Given the description of an element on the screen output the (x, y) to click on. 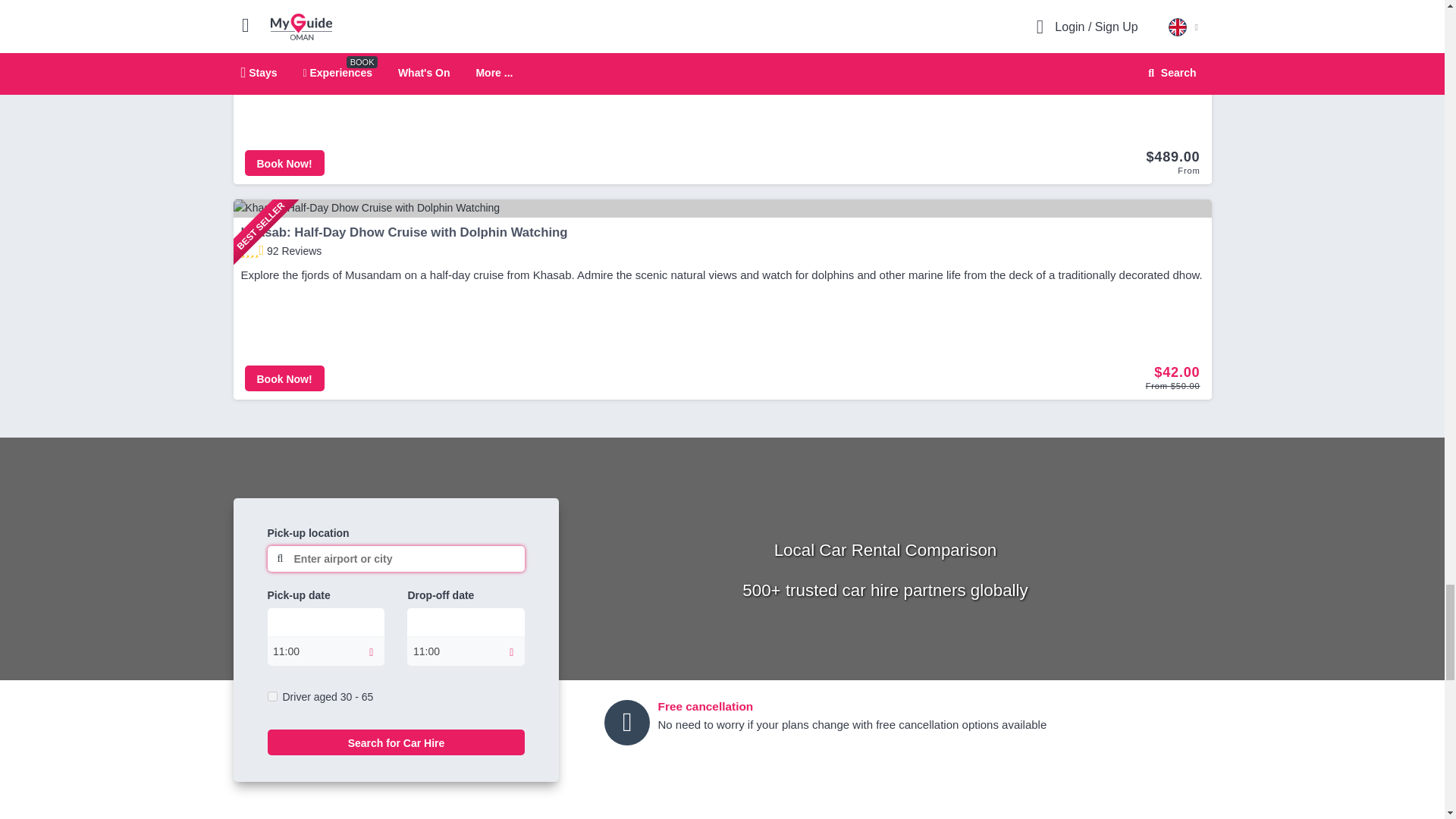
on (271, 696)
